Given the description of an element on the screen output the (x, y) to click on. 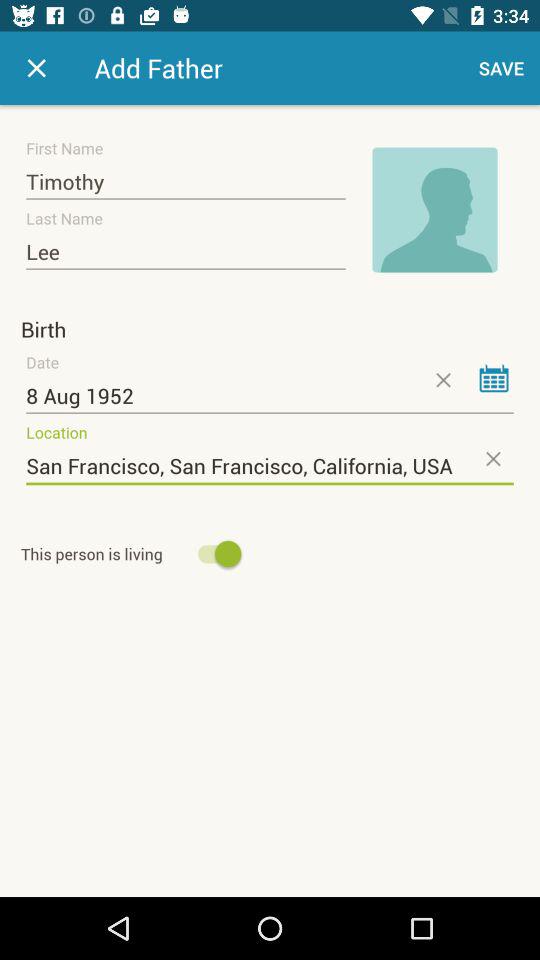
clique para adicionar uma imagem (435, 210)
